Given the description of an element on the screen output the (x, y) to click on. 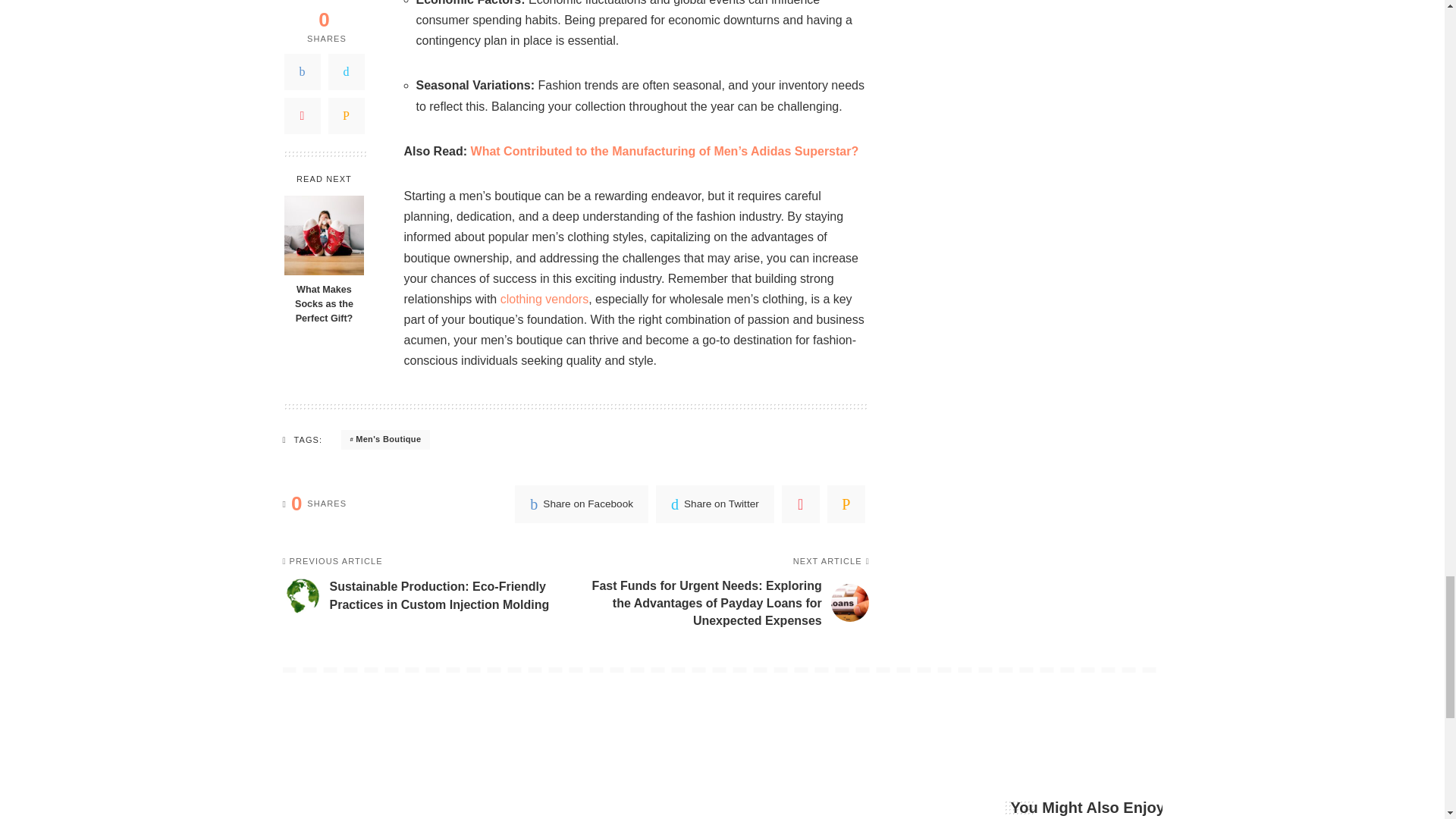
Men's Boutique (385, 439)
